Given the description of an element on the screen output the (x, y) to click on. 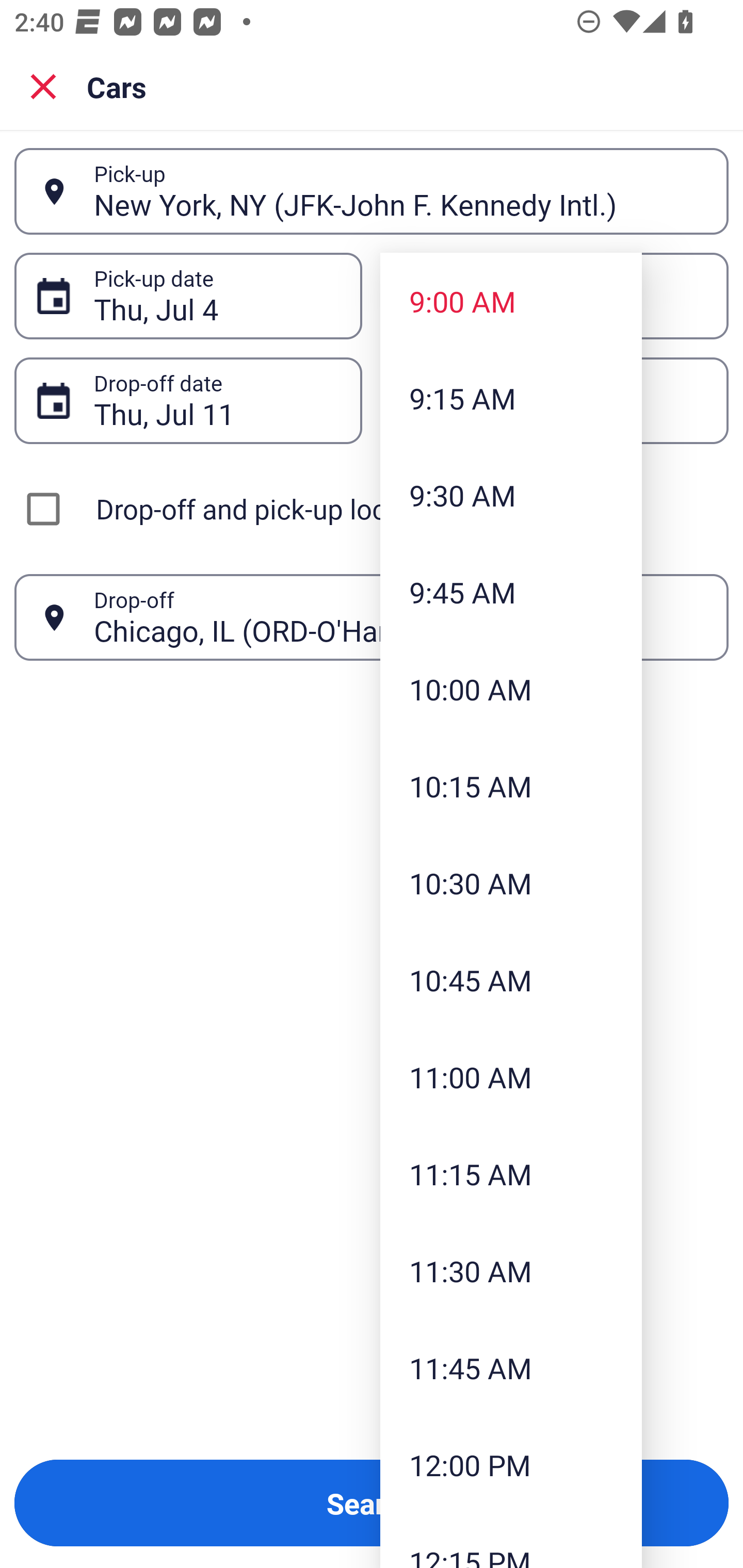
9:00 AM (510, 300)
9:15 AM (510, 397)
9:30 AM (510, 495)
9:45 AM (510, 592)
10:00 AM (510, 688)
10:15 AM (510, 785)
10:30 AM (510, 882)
10:45 AM (510, 979)
11:00 AM (510, 1076)
11:15 AM (510, 1174)
11:30 AM (510, 1270)
11:45 AM (510, 1366)
12:00 PM (510, 1464)
